Given the description of an element on the screen output the (x, y) to click on. 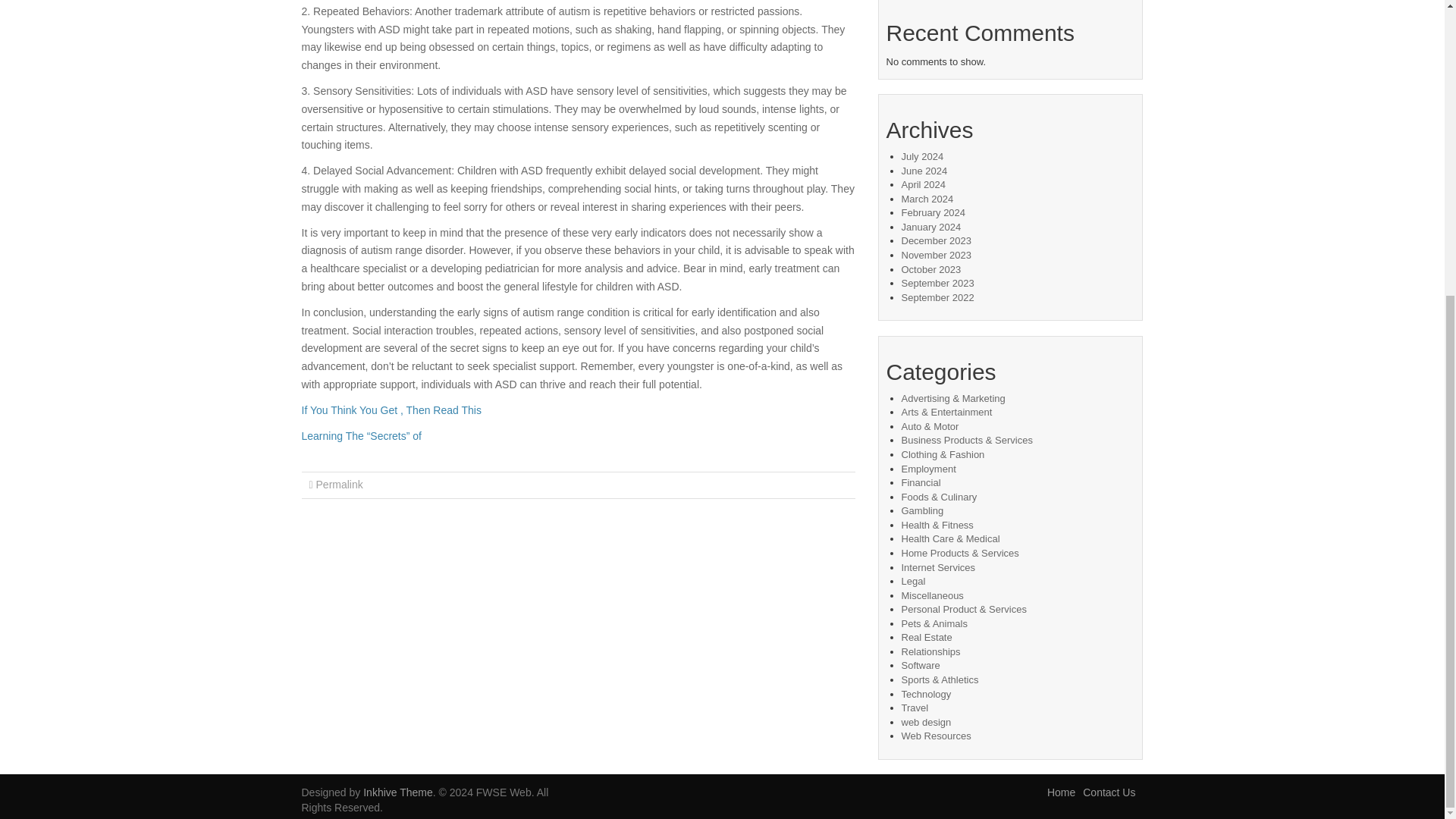
February 2024 (933, 212)
June 2024 (924, 170)
March 2024 (927, 198)
If You Think You Get , Then Read This (391, 410)
September 2023 (937, 283)
November 2023 (936, 255)
July 2024 (922, 156)
Employment (928, 469)
September 2022 (937, 297)
January 2024 (930, 226)
April 2024 (922, 184)
Gambling (922, 510)
Permalink (338, 484)
Financial (920, 482)
December 2023 (936, 240)
